Given the description of an element on the screen output the (x, y) to click on. 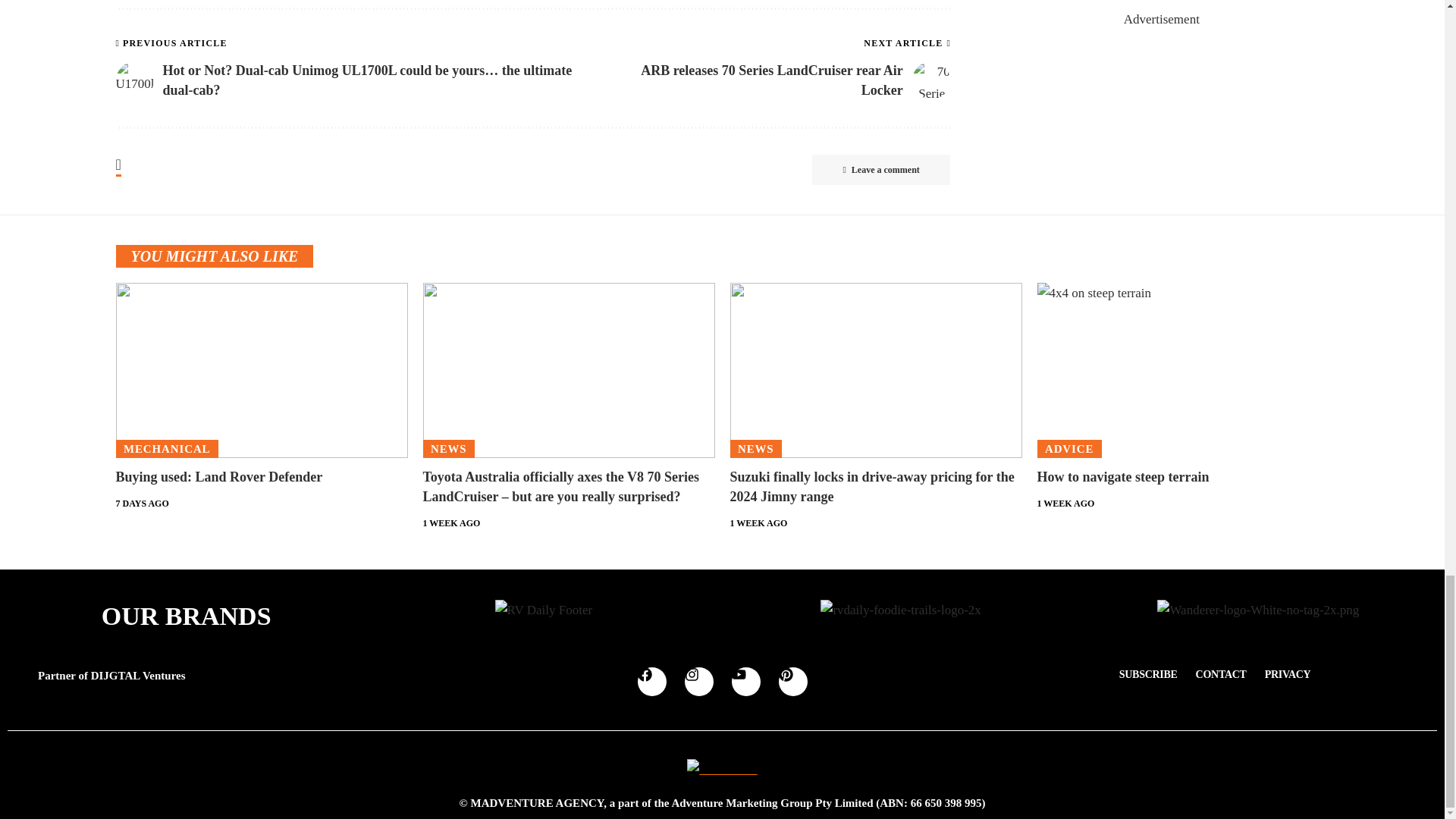
Wanderer-logo-White-no-tag-2x.png (1257, 610)
Buying used: Land Rover Defender (261, 369)
RV Daily Footer (543, 610)
rvdaily-foodie-trails-logo-2x (900, 610)
How to navigate steep terrain (1182, 369)
